Given the description of an element on the screen output the (x, y) to click on. 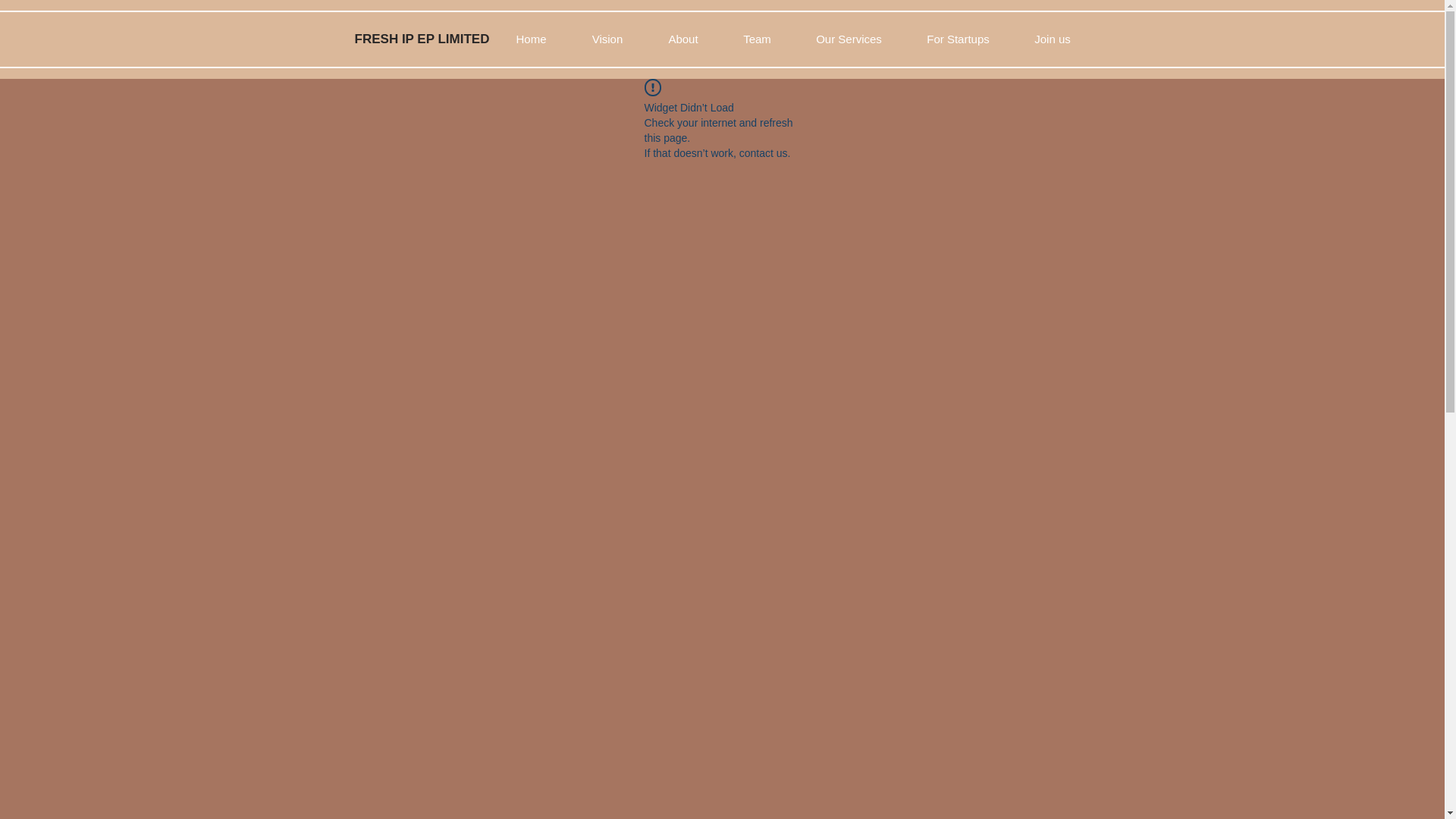
Home (531, 39)
Team (756, 39)
! (653, 87)
Vision (607, 39)
FRESH IP EP LIMITED (421, 38)
Our Services (848, 39)
For Startups (957, 39)
About (683, 39)
Join us (1052, 39)
